Given the description of an element on the screen output the (x, y) to click on. 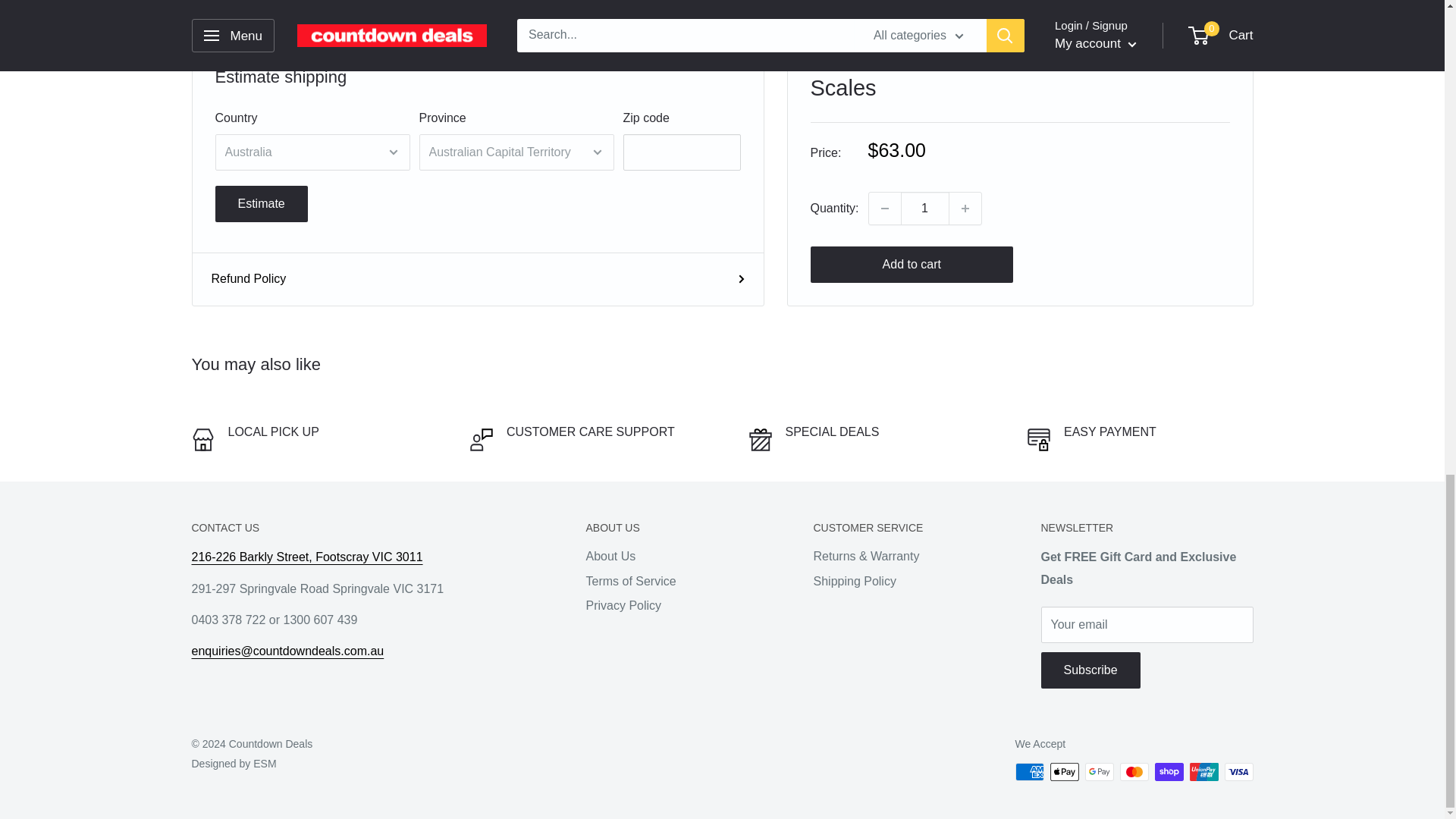
216-226 Barkly St, Footscray VIC 3011, Australia (306, 556)
